Given the description of an element on the screen output the (x, y) to click on. 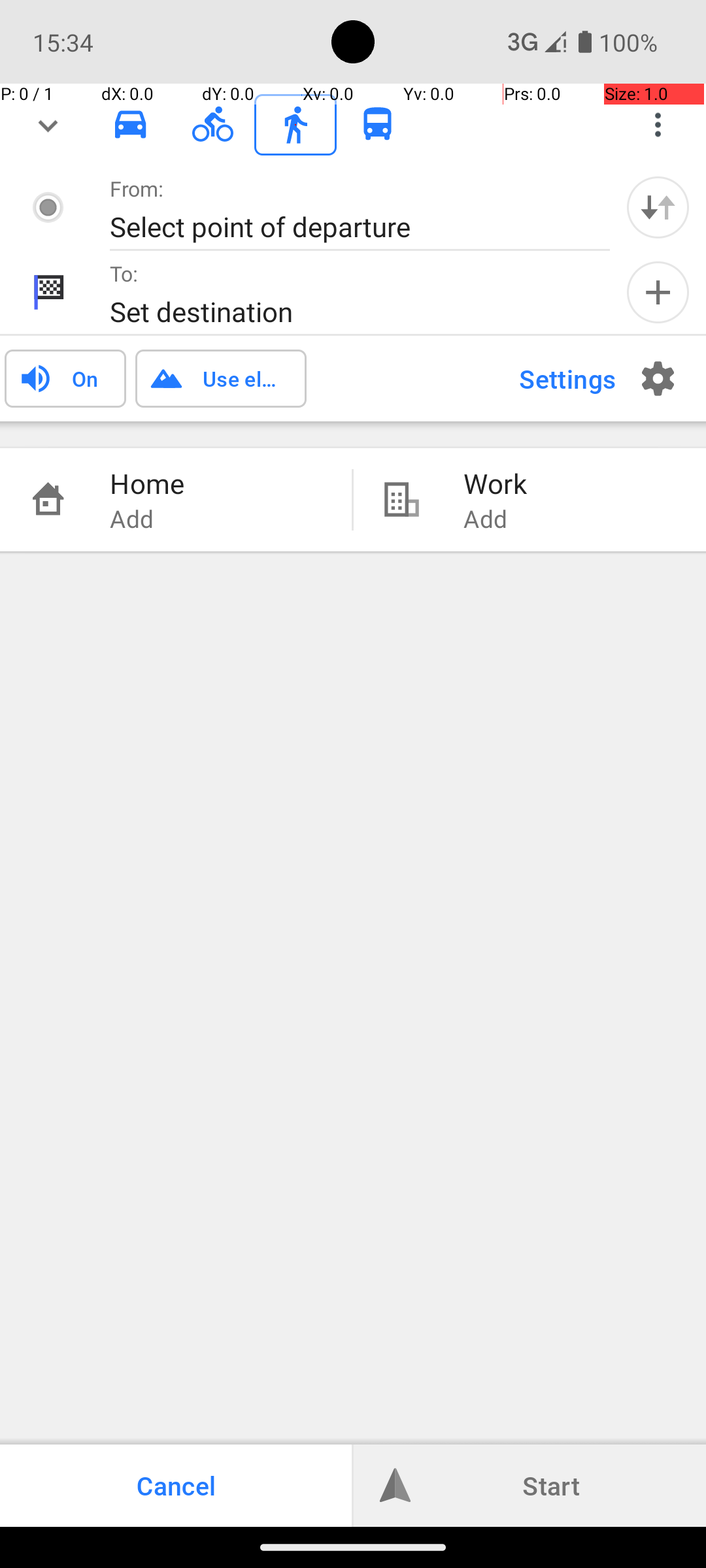
fold/unfold Element type: android.widget.ImageView (48, 124)
Choose app modes Element type: android.widget.ImageView (657, 124)
Driving Element type: android.widget.FrameLayout (130, 124)
Cycling Element type: android.widget.FrameLayout (212, 124)
Walking Element type: android.widget.FrameLayout (295, 124)
Public transport Element type: android.widget.FrameLayout (377, 124)
From: Element type: android.widget.TextView (136, 188)
Select point of departure Element type: android.widget.TextView (345, 226)
Swap Element type: android.widget.FrameLayout (657, 207)
To: Element type: android.widget.TextView (123, 273)
Set destination Element type: android.widget.TextView (345, 310)
Add Element type: android.widget.FrameLayout (657, 292)
Driving unchecked Element type: android.widget.ImageView (130, 124)
Cycling unchecked Element type: android.widget.ImageView (212, 124)
Walking checked Element type: android.widget.ImageView (294, 124)
Public transport unchecked Element type: android.widget.ImageView (377, 124)
On Element type: android.widget.TextView (84, 378)
Use elevation data Element type: android.widget.TextView (240, 378)
